Given the description of an element on the screen output the (x, y) to click on. 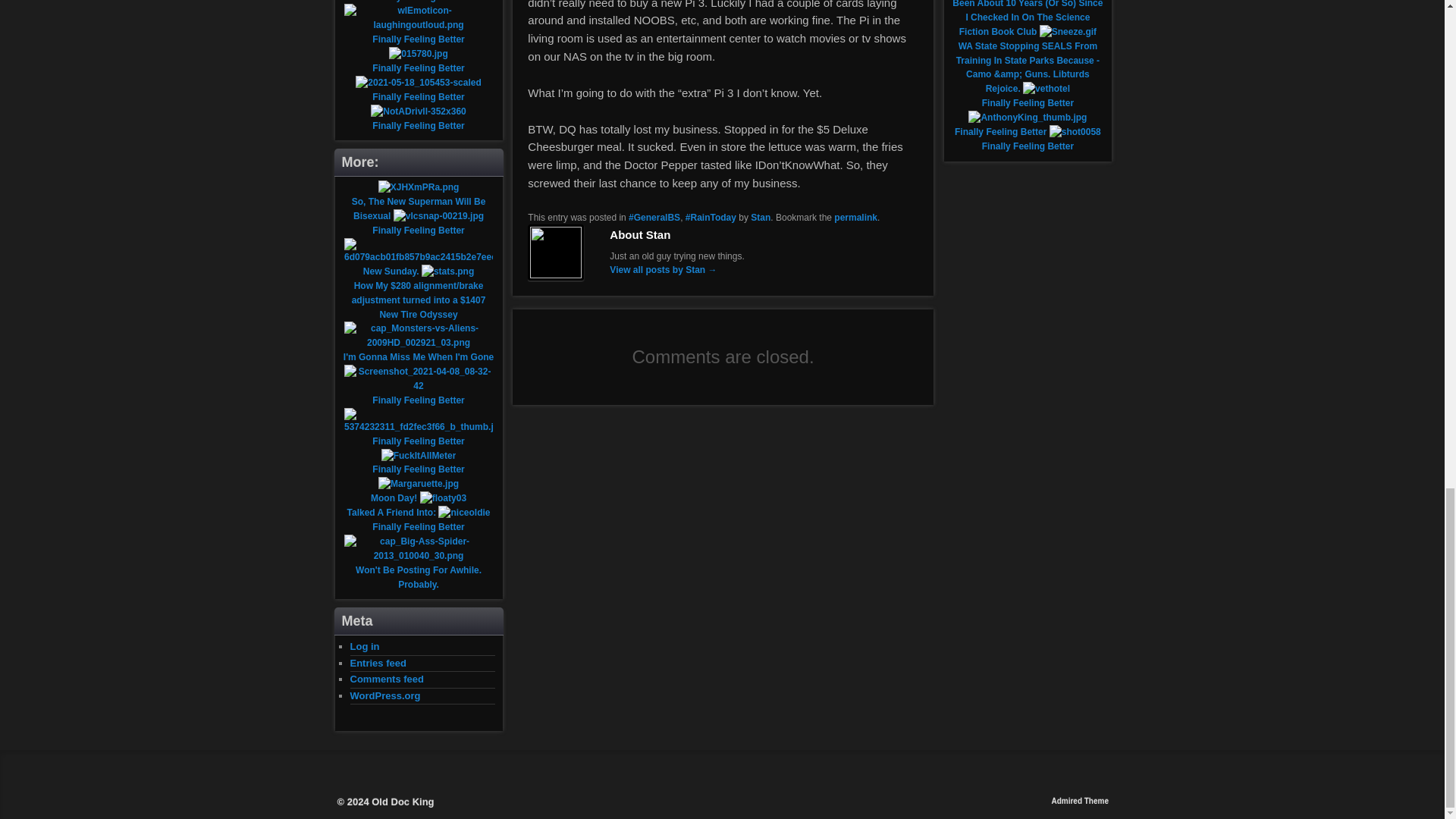
Finally Feeling Better (418, 125)
Finally Feeling Better (418, 39)
Finally Feeling Better (418, 68)
Permalink to Finally Feeling Better (855, 217)
Finally Feeling Better (418, 96)
Finally Feeling Better (418, 1)
Stan (760, 217)
permalink (855, 217)
